Given the description of an element on the screen output the (x, y) to click on. 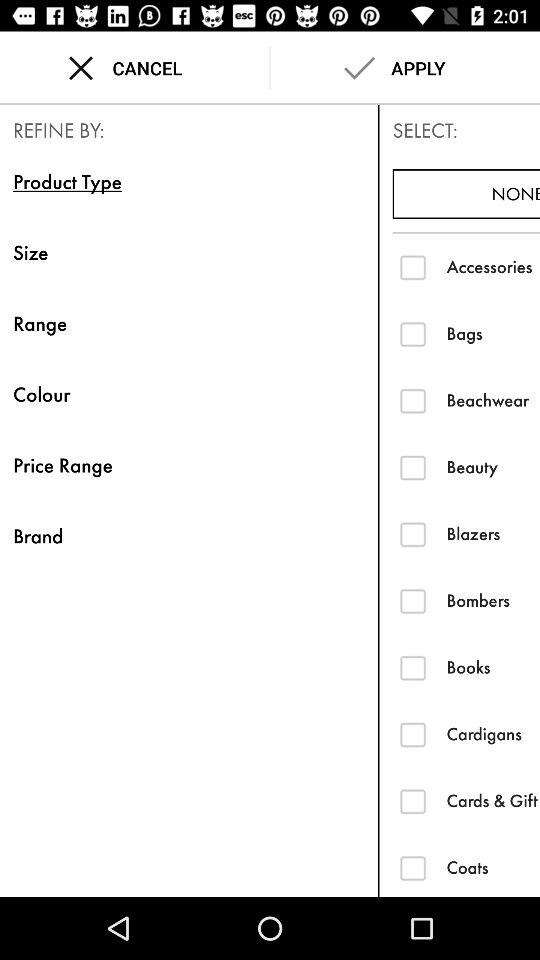
choose the icon above the bags item (493, 266)
